Given the description of an element on the screen output the (x, y) to click on. 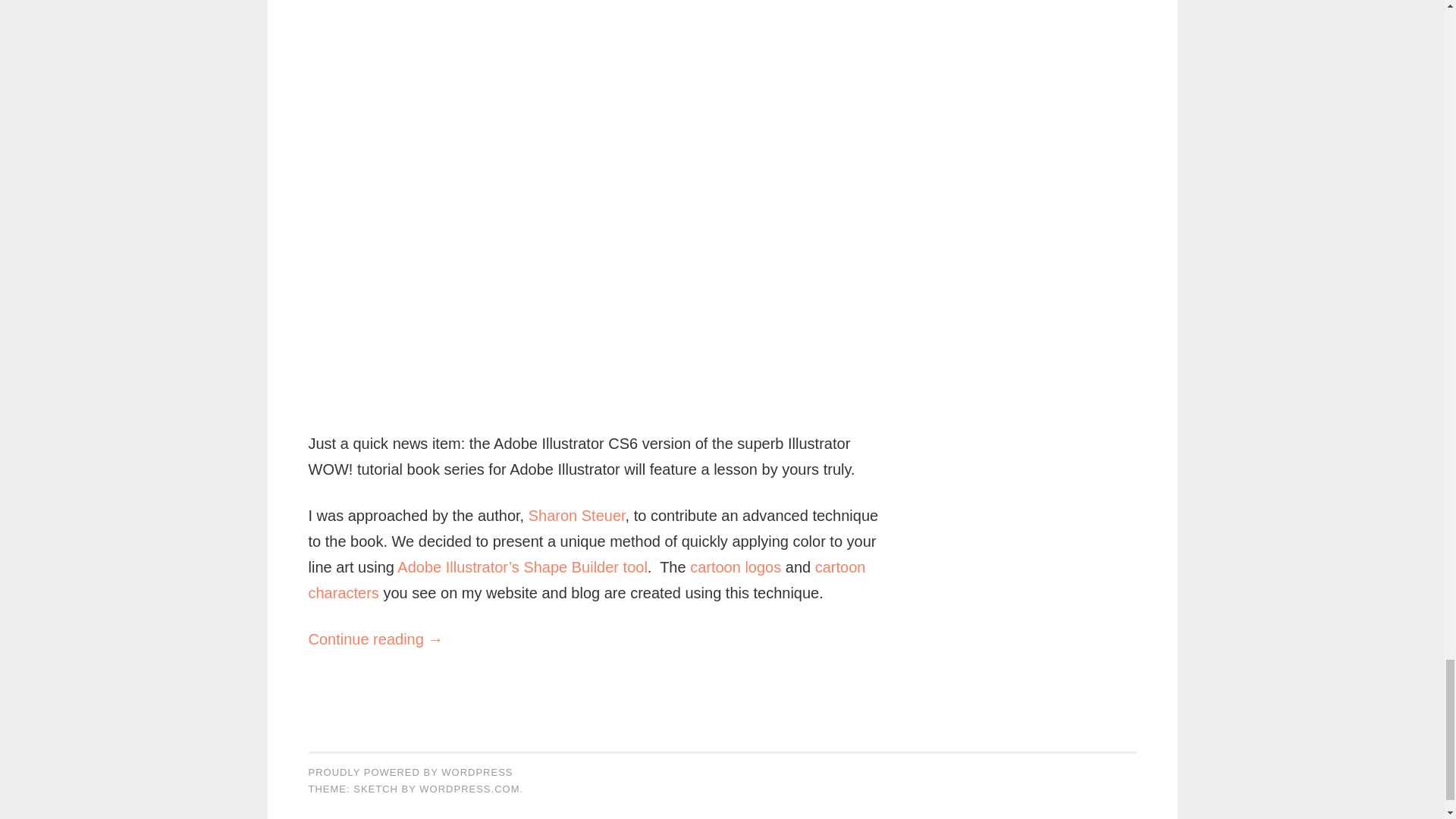
cartoon logos (735, 566)
Sharon Steuer (577, 515)
cartoon characters (585, 579)
Adobe Illustrator's Shape Builder tool (521, 566)
